Given the description of an element on the screen output the (x, y) to click on. 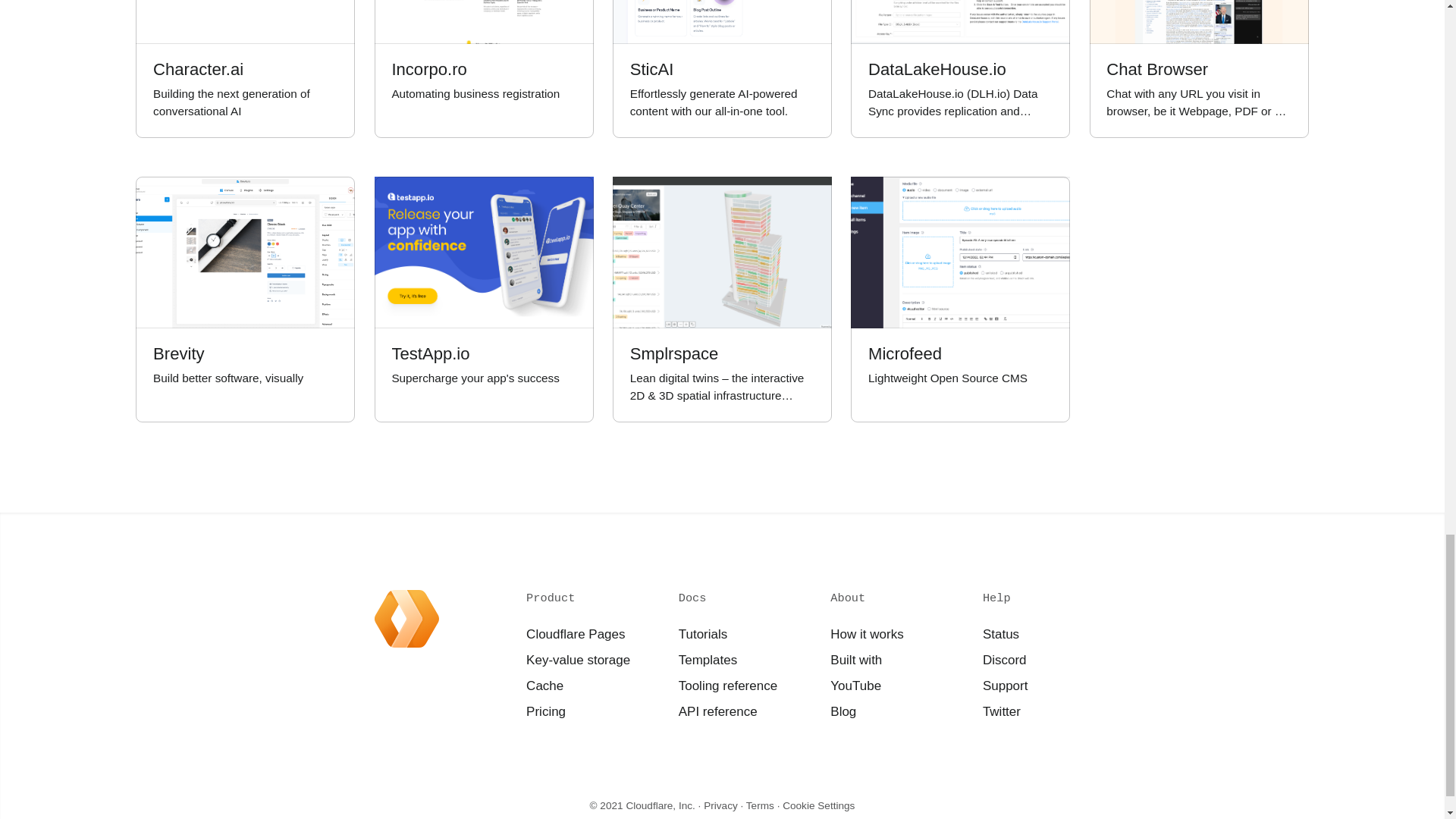
Blog (843, 710)
Cache (544, 685)
Key-value storage (578, 659)
Twitter (484, 69)
Discord (1000, 710)
Terms (1003, 659)
YouTube (759, 805)
Pricing (856, 685)
Tutorials (545, 710)
Status (245, 299)
